Given the description of an element on the screen output the (x, y) to click on. 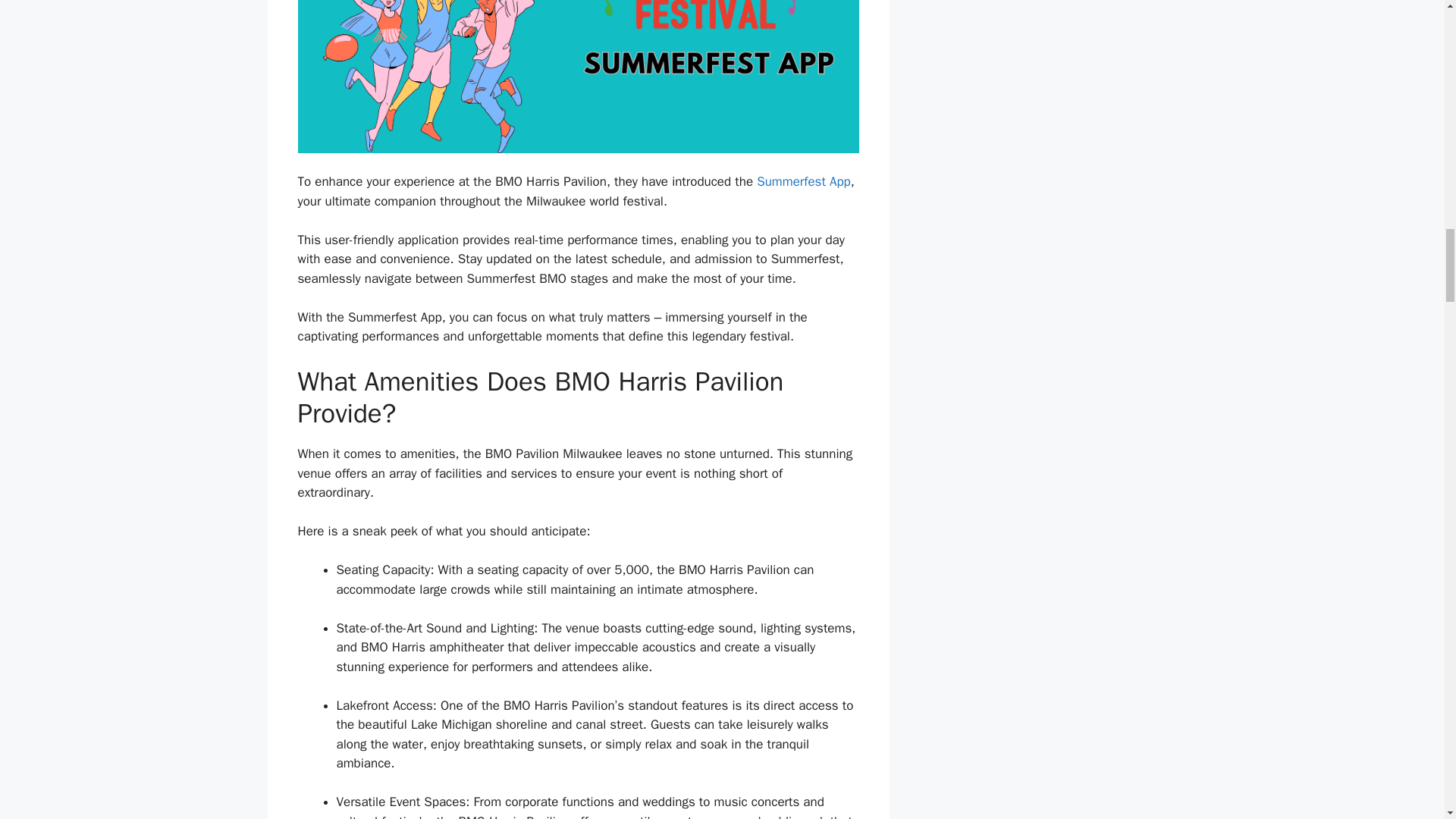
Summerfest App (803, 181)
